Given the description of an element on the screen output the (x, y) to click on. 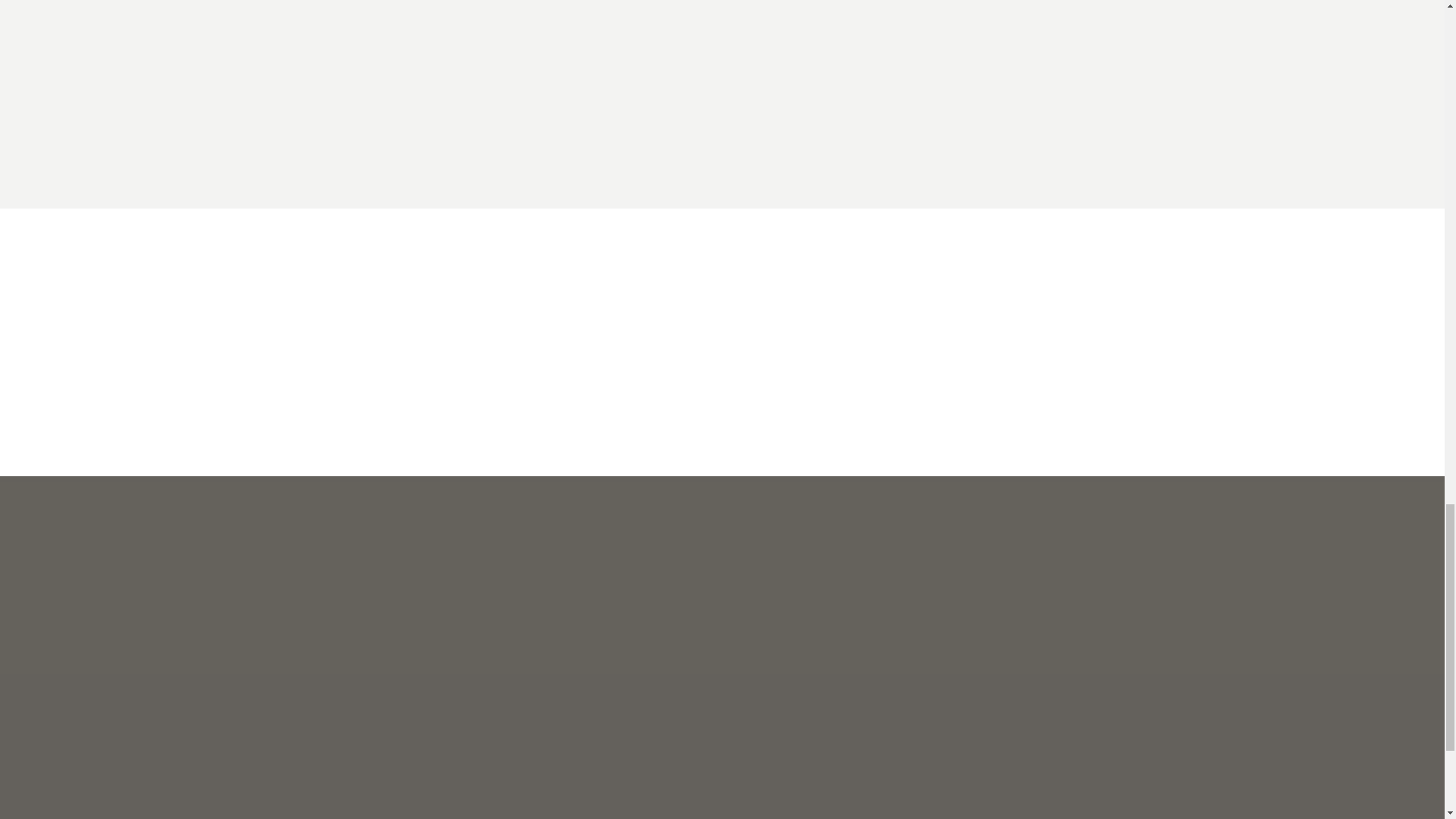
 Send  (773, 775)
